Given the description of an element on the screen output the (x, y) to click on. 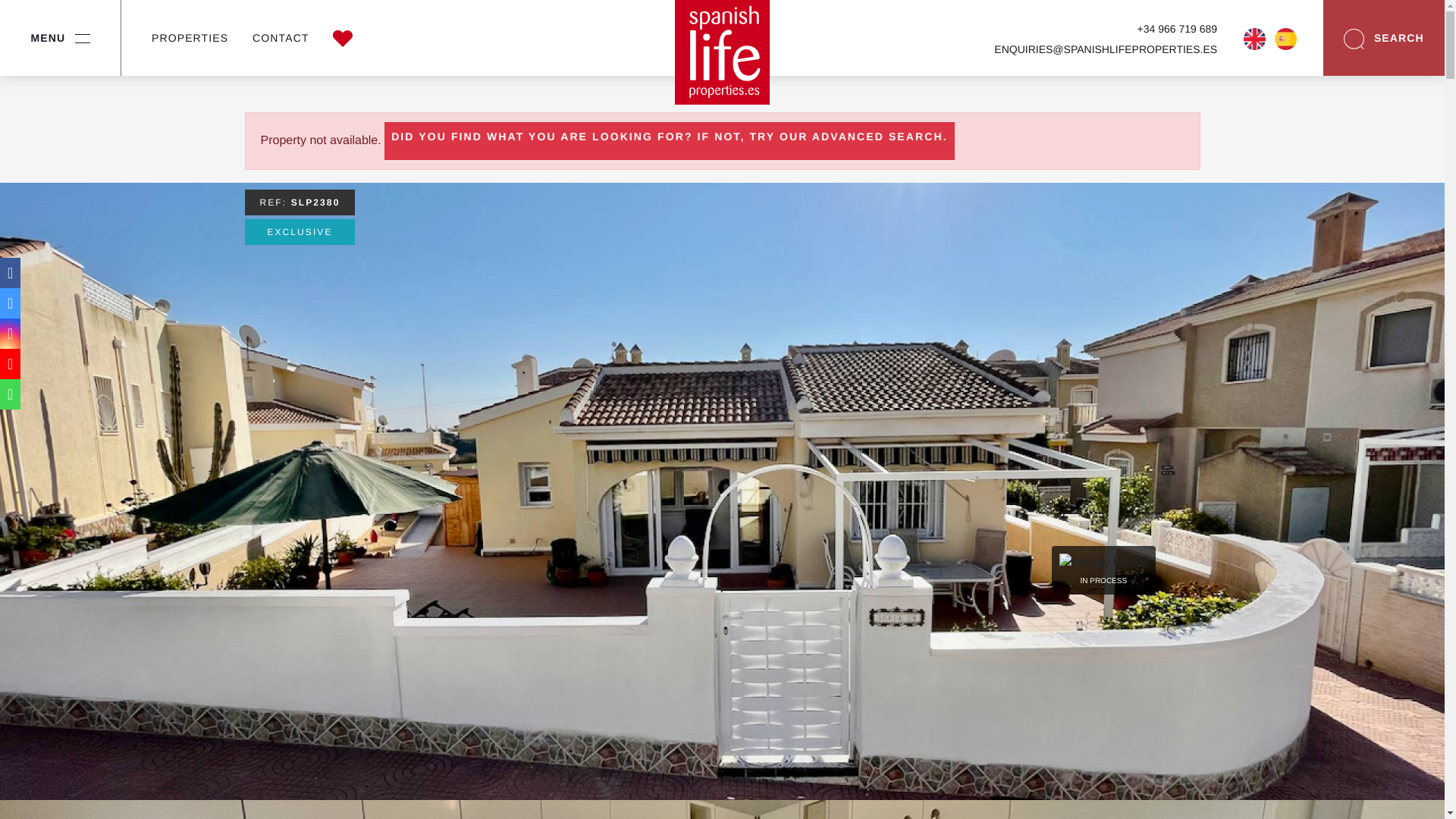
Spanish life properties (722, 52)
CONTACT (279, 37)
PROPERTIES (189, 37)
